Given the description of an element on the screen output the (x, y) to click on. 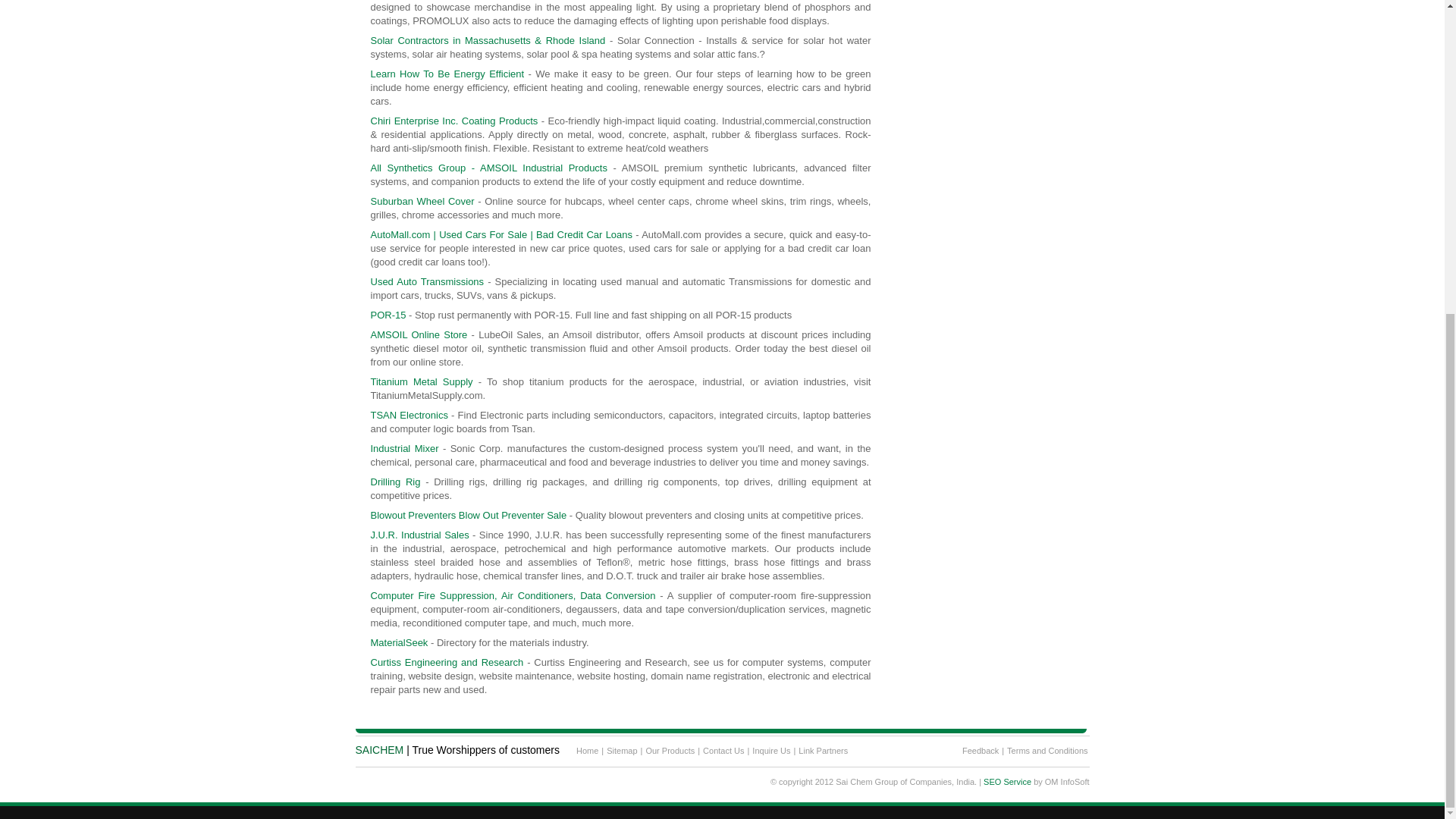
Computer Fire Suppression, Air Conditioners, Data Conversion (512, 595)
Blowout Preventers Blow Out Preventer Sale (467, 514)
Learn How To Be Energy Efficient (446, 73)
Inquire Us (771, 750)
J.U.R. Industrial Sales (418, 534)
SEO Service (1007, 781)
AMSOIL Online Store (418, 334)
Terms and Conditions (1047, 750)
Sitemap (622, 750)
Curtiss Engineering and Research (445, 662)
